Given the description of an element on the screen output the (x, y) to click on. 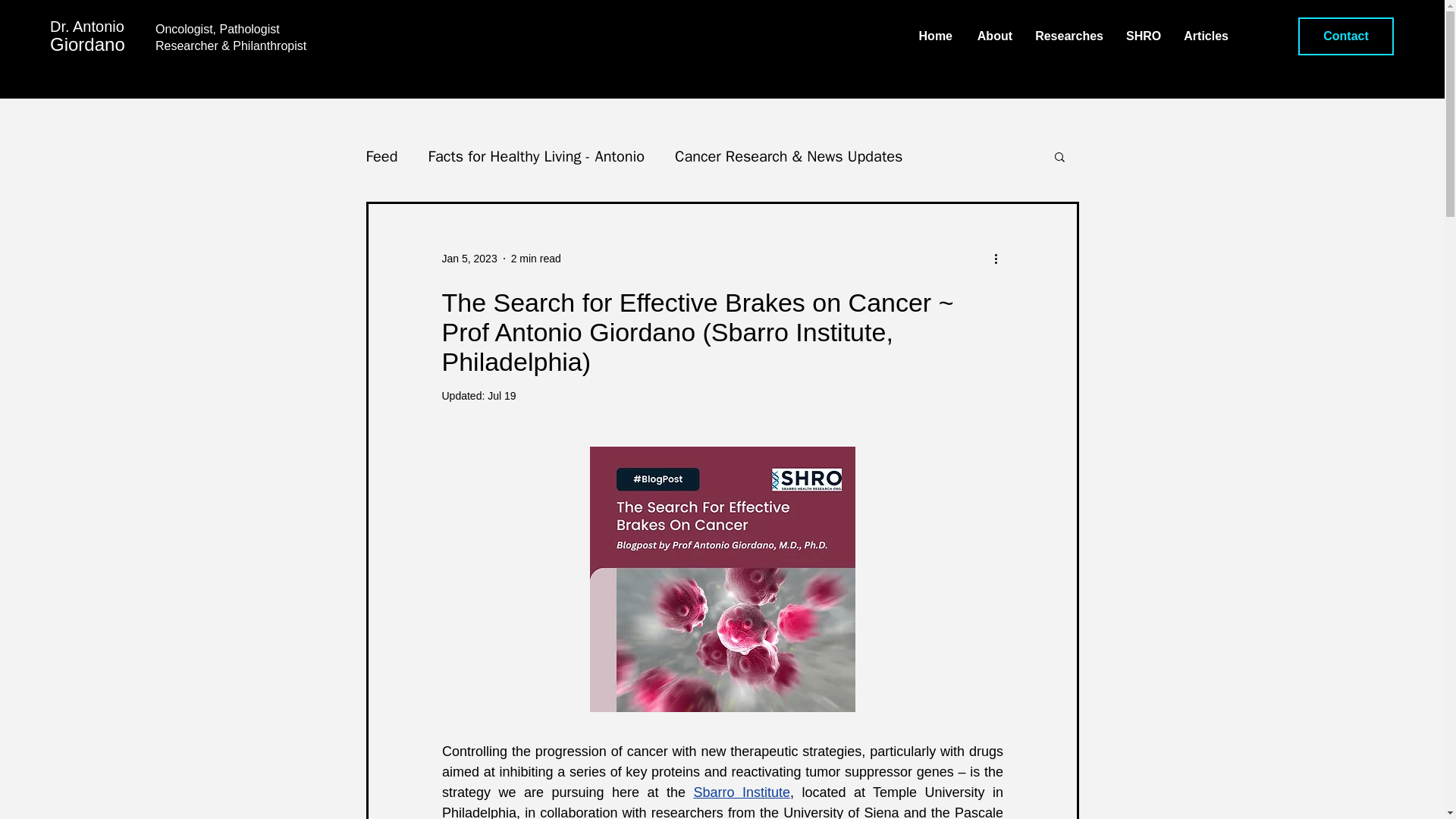
Facts for Healthy Living - Antonio (536, 156)
About (993, 36)
Articles (1206, 36)
Dr. Antonio (86, 26)
2 min read (535, 258)
Researches (1069, 36)
Home (934, 36)
Jul 19 (501, 395)
Jan 5, 2023 (468, 258)
Sbarro Institute (741, 792)
Contact (1345, 36)
SHRO (1143, 36)
Oncologist, Pathologist (217, 29)
Feed (381, 156)
